Given the description of an element on the screen output the (x, y) to click on. 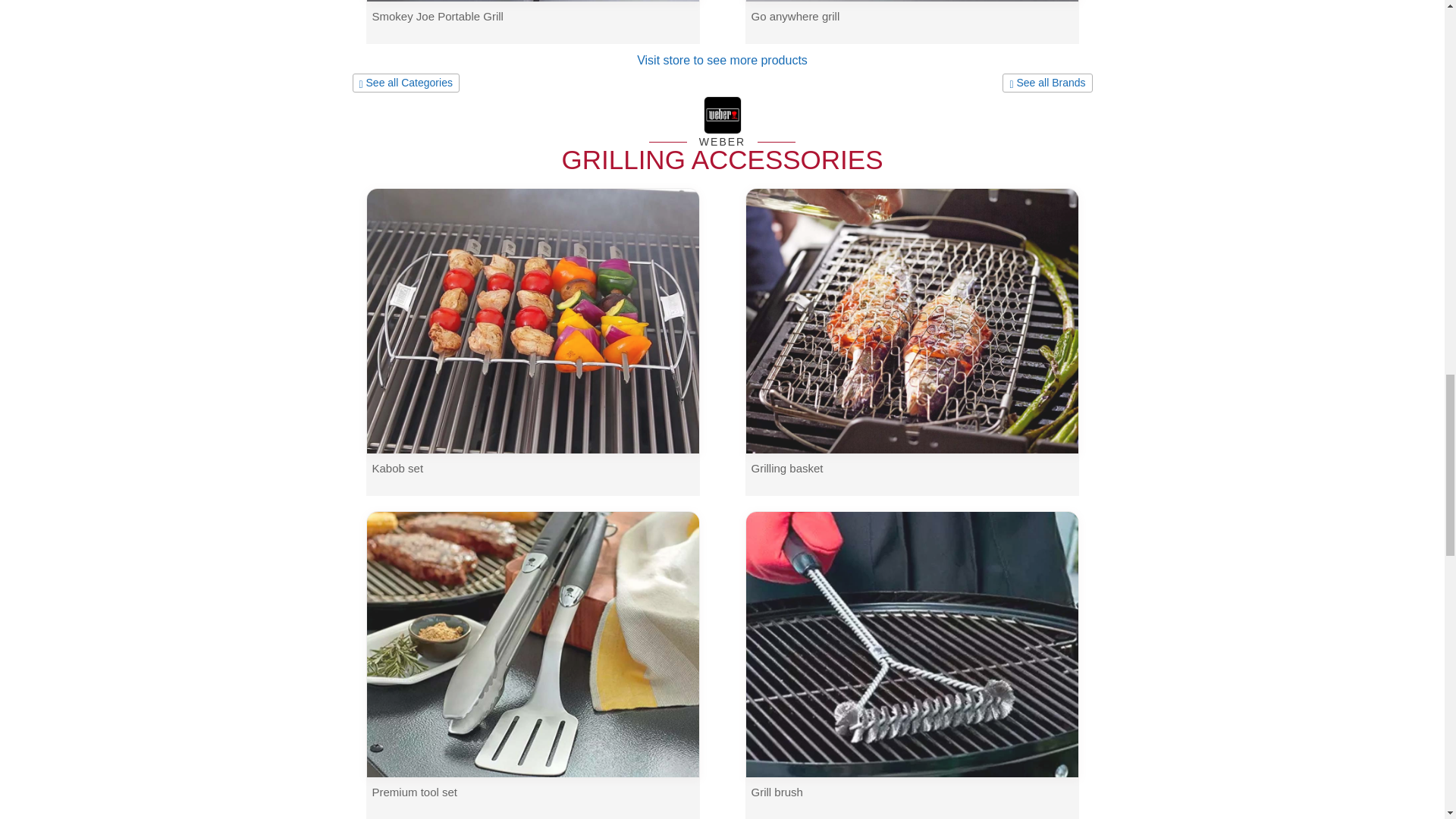
Crockery store near me (405, 82)
Grilling Accessories near me (721, 159)
Weber Grilling Accessories in Kochi (722, 115)
weber grill accessories (911, 319)
Weber Grilling Accessories in Kochi (723, 141)
Imported crockery in Kochi (1047, 82)
skewers (532, 319)
